Given the description of an element on the screen output the (x, y) to click on. 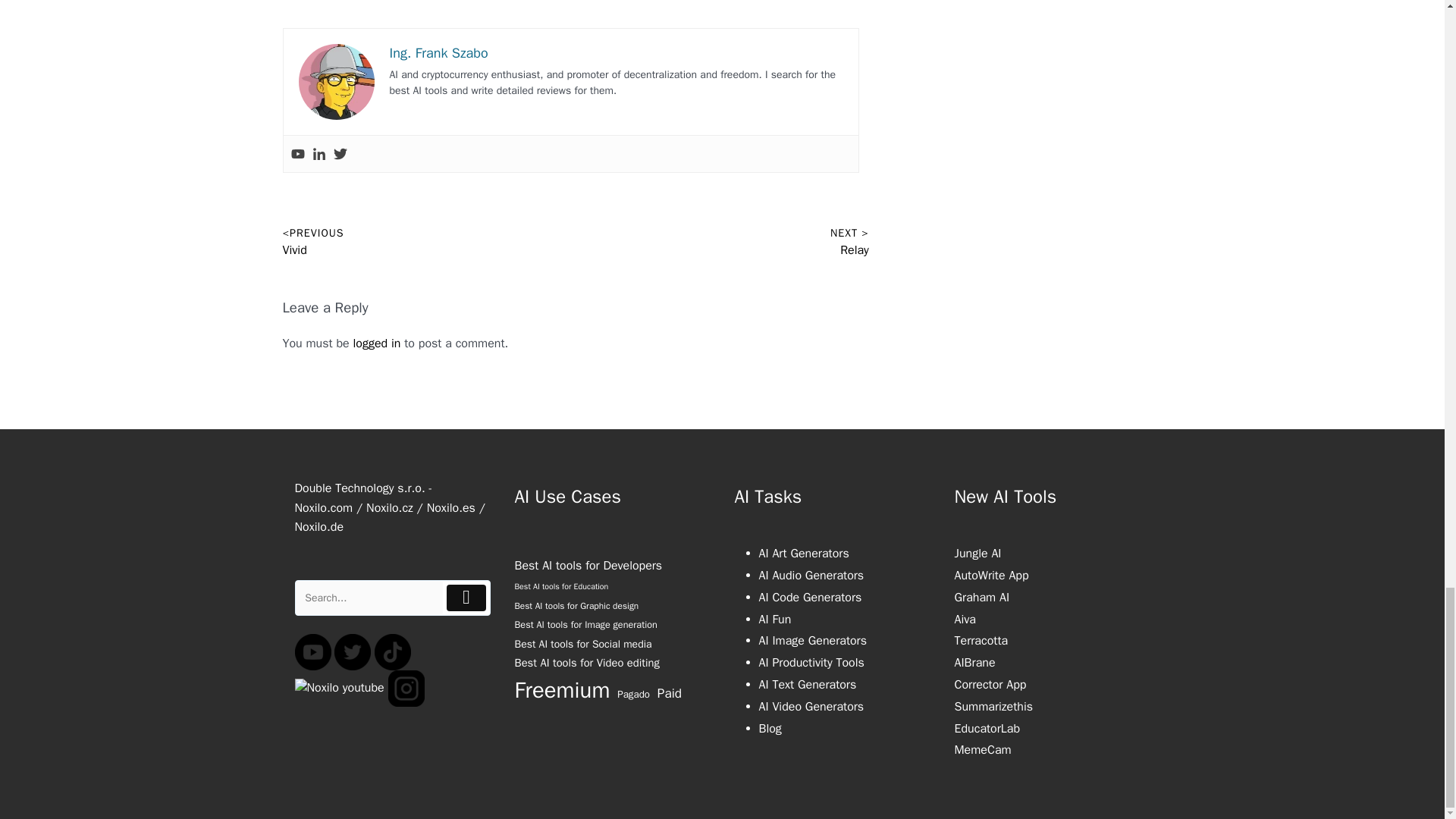
logged in (377, 343)
Search (369, 597)
Ing. Frank Szabo (438, 53)
Youtube (297, 153)
Twitter (340, 153)
Linkedin (319, 153)
